Given the description of an element on the screen output the (x, y) to click on. 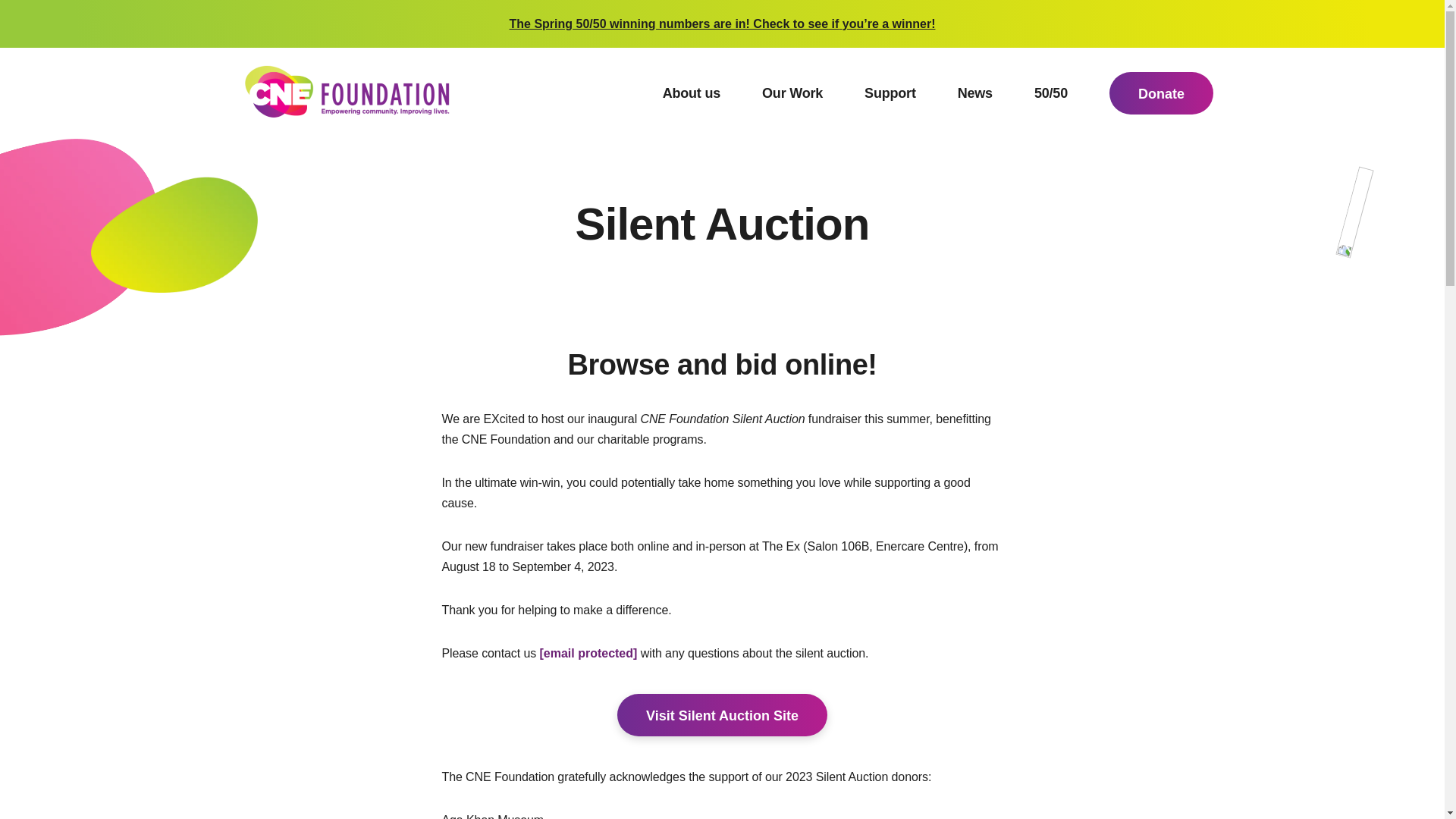
Donate (1160, 93)
News (975, 92)
Our Work (791, 72)
About us (691, 72)
Visit Silent Auction Site (722, 714)
Support (889, 72)
